Given the description of an element on the screen output the (x, y) to click on. 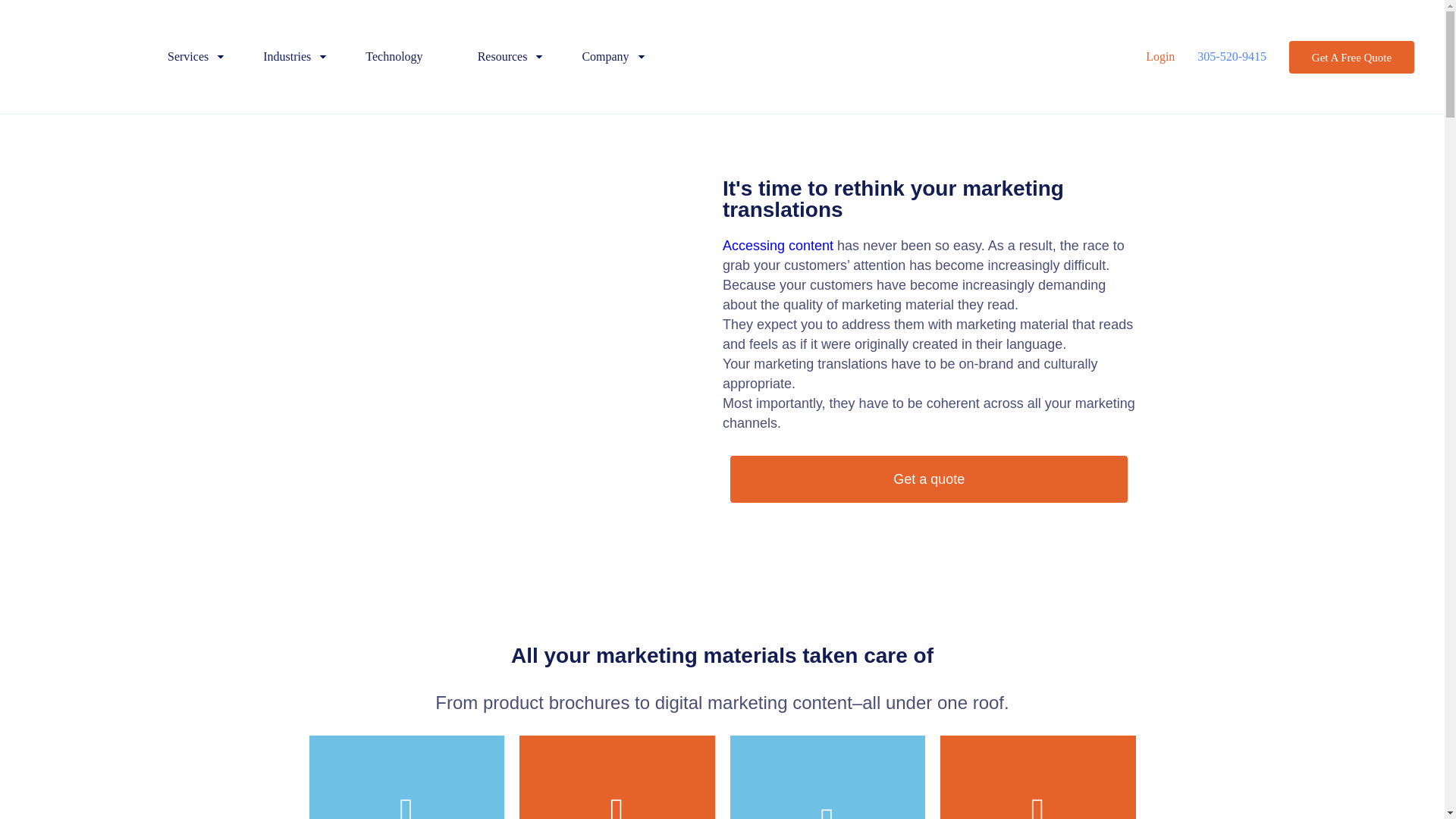
Technology (393, 56)
Industries (287, 56)
Company (604, 56)
Resources (502, 56)
Services (187, 56)
